Given the description of an element on the screen output the (x, y) to click on. 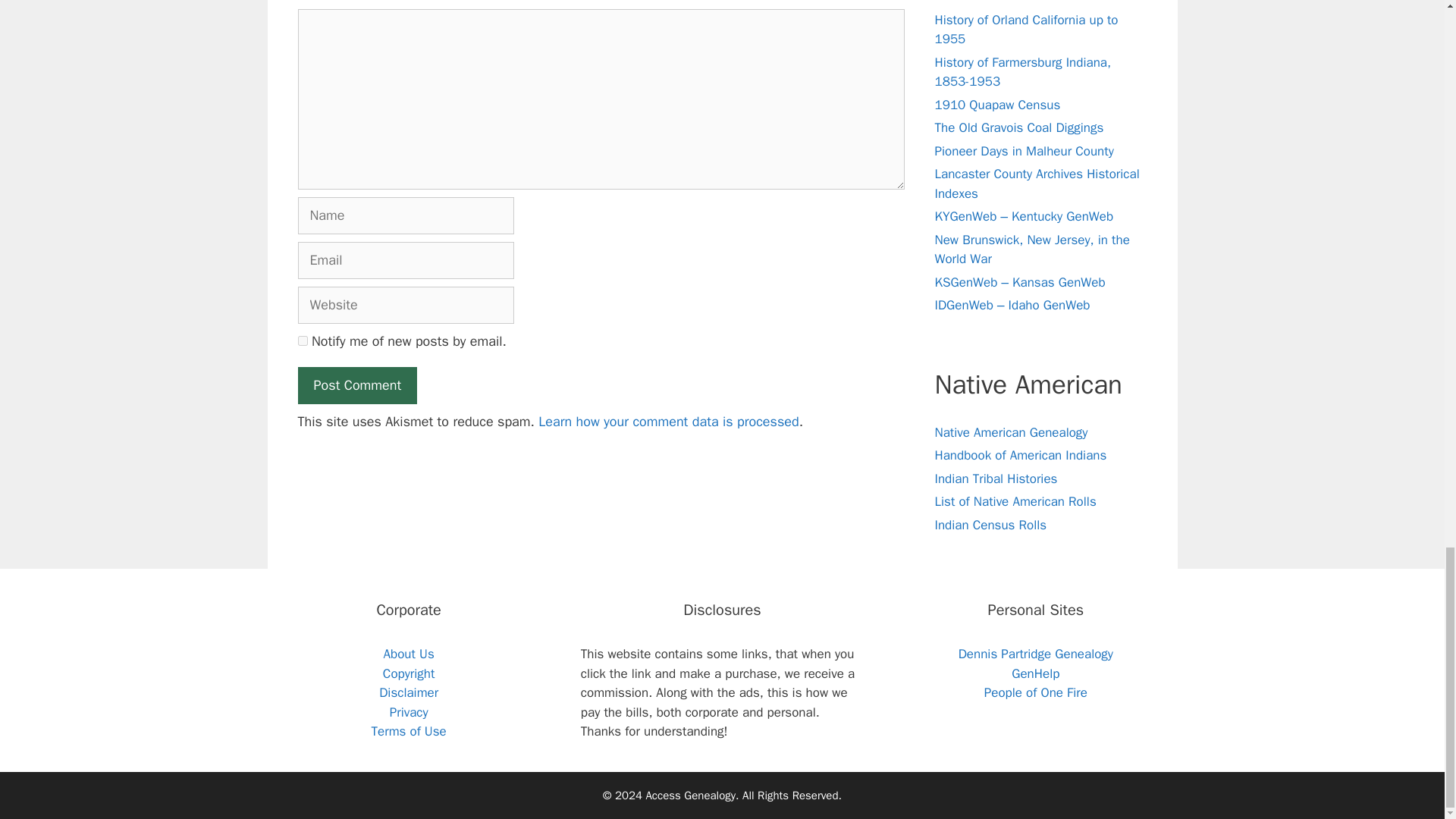
Learn how your comment data is processed (667, 421)
Post Comment (356, 385)
subscribe (302, 340)
Post Comment (356, 385)
